Given the description of an element on the screen output the (x, y) to click on. 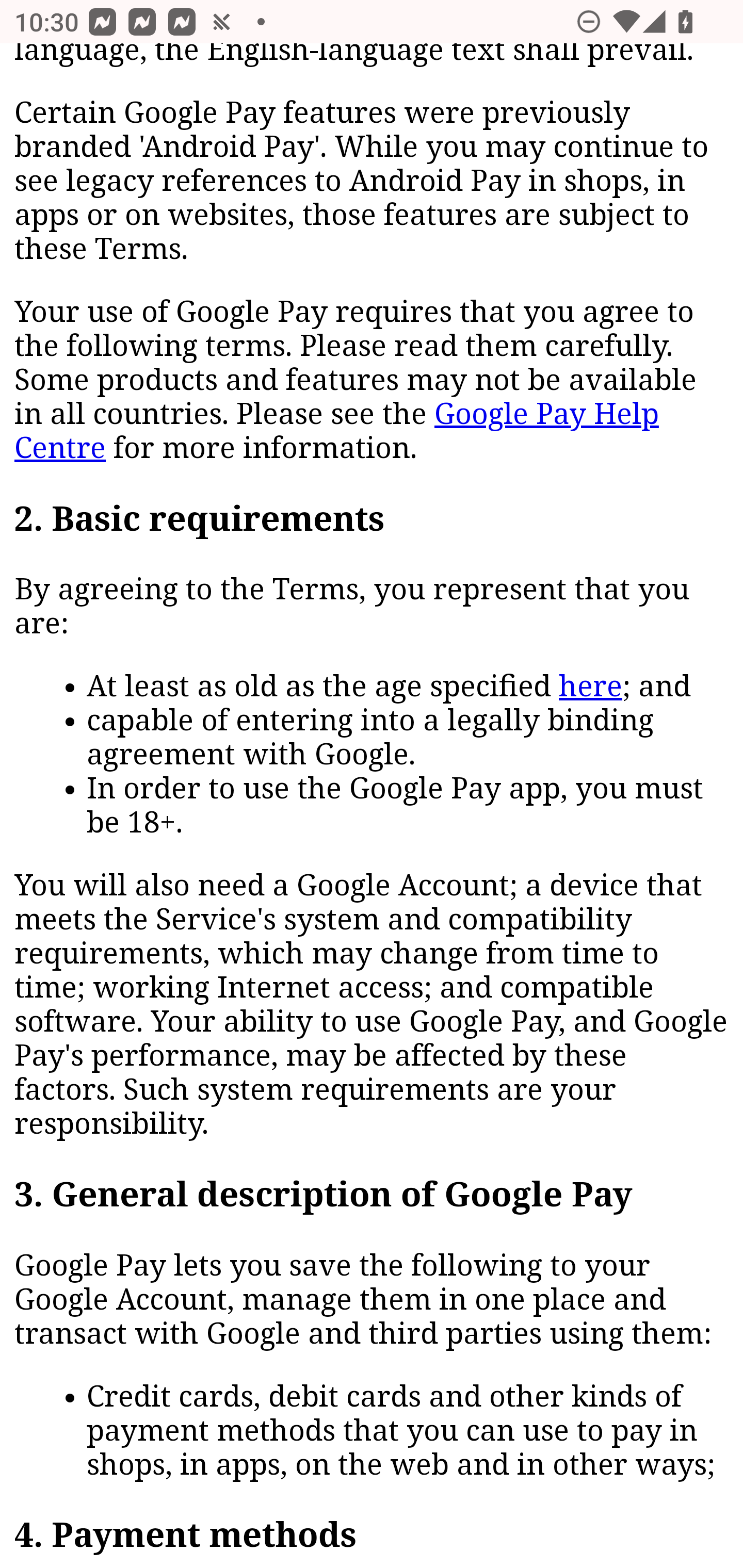
Google Pay Help Centre (336, 431)
here (589, 687)
